Given the description of an element on the screen output the (x, y) to click on. 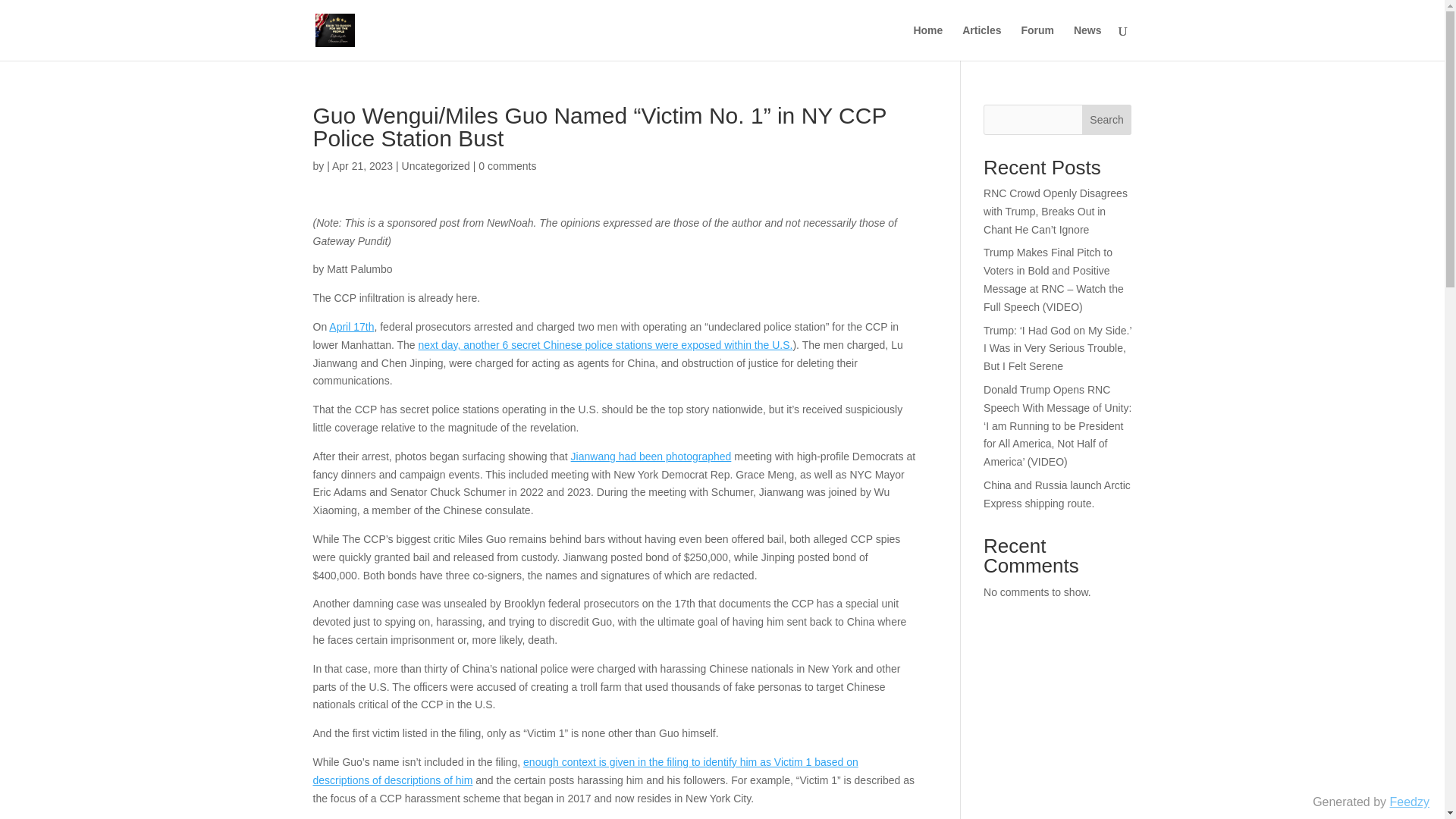
Jianwang had been photographed (651, 456)
Search (1106, 119)
Forum (1037, 42)
Articles (981, 42)
Uncategorized (435, 165)
April 17th (351, 326)
0 comments (507, 165)
China and Russia launch Arctic Express shipping route. (1057, 494)
